Given the description of an element on the screen output the (x, y) to click on. 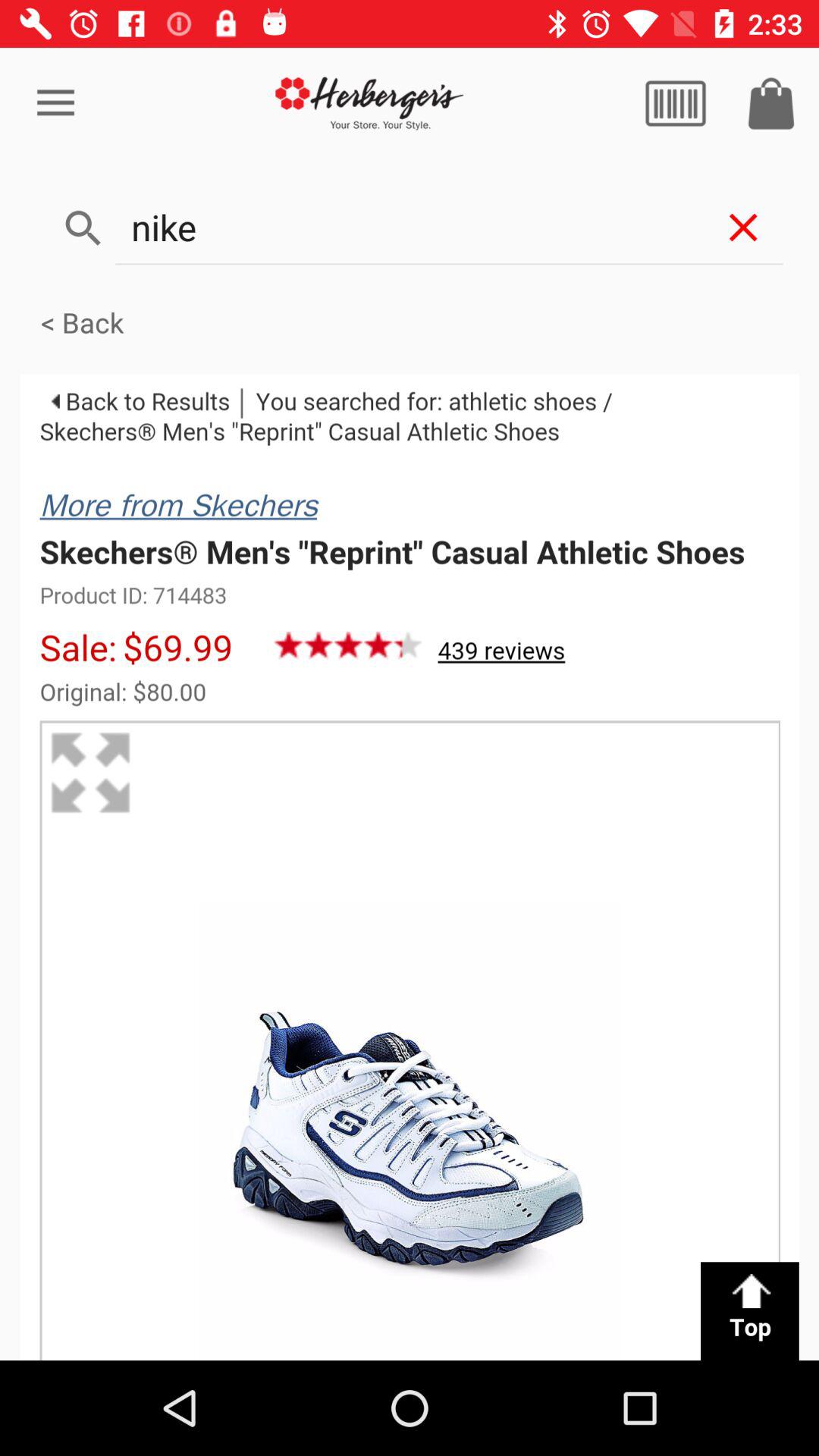
go to all (675, 103)
